Given the description of an element on the screen output the (x, y) to click on. 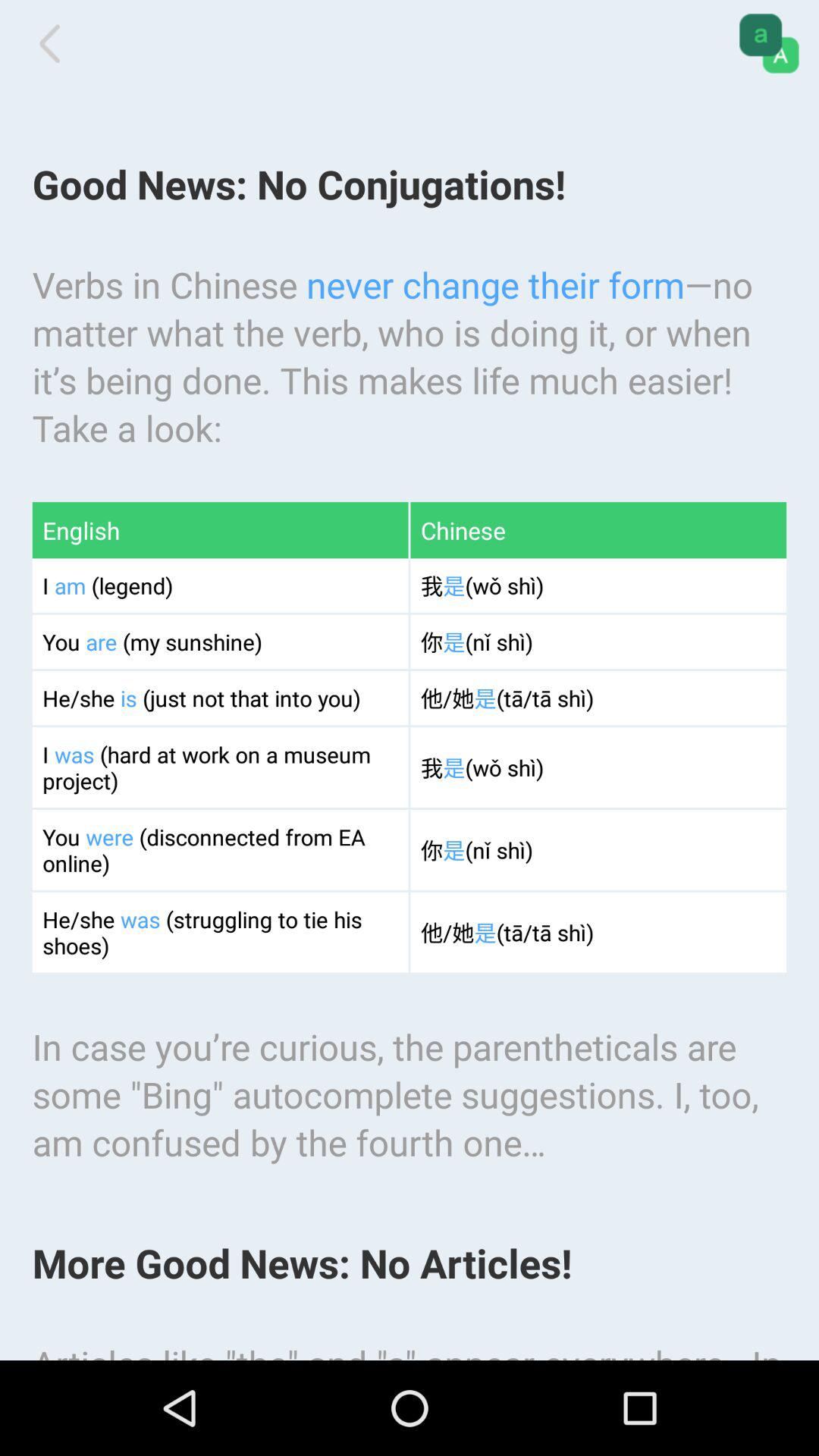
select item at the top right corner (769, 43)
